Given the description of an element on the screen output the (x, y) to click on. 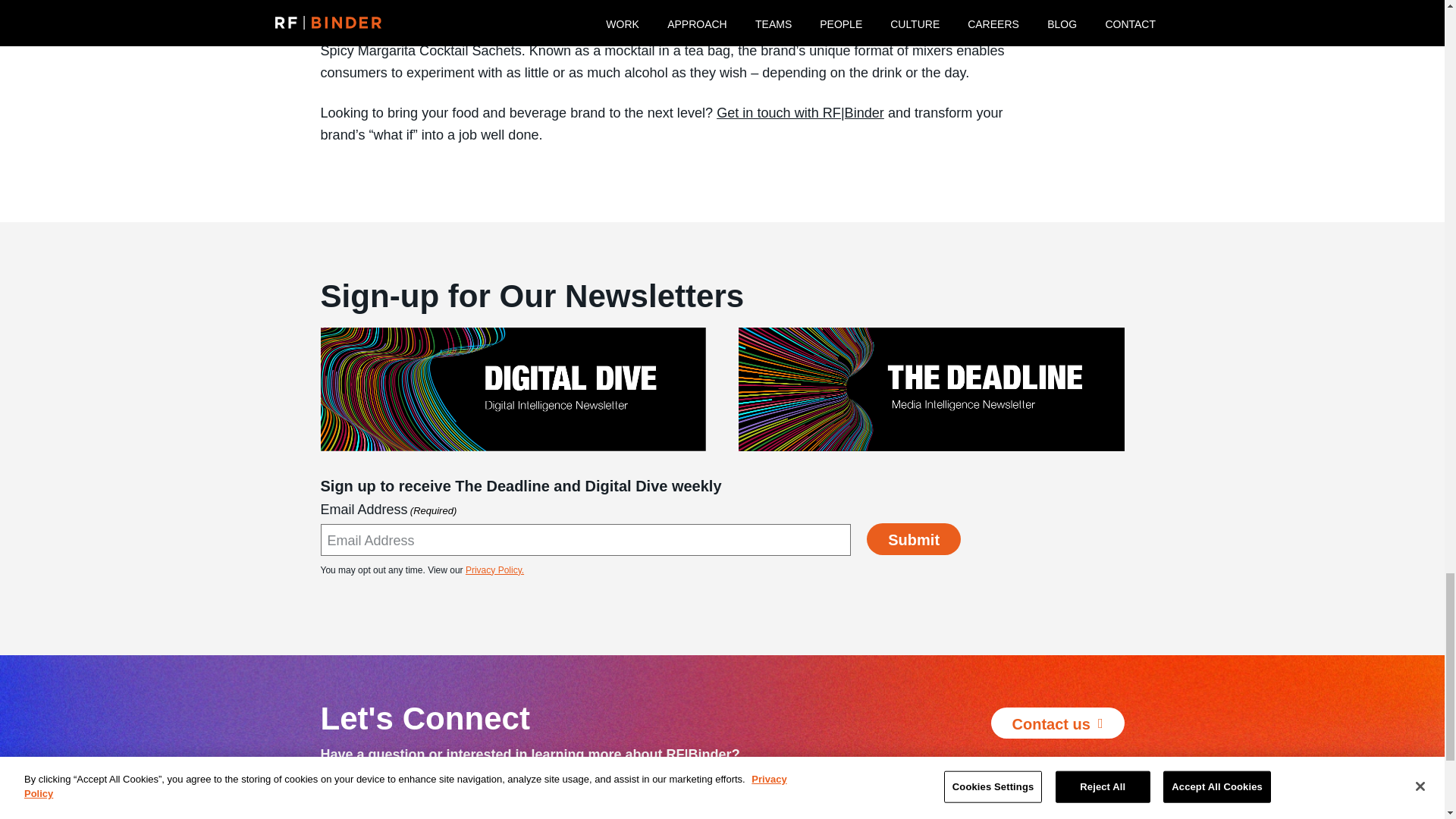
Submit (913, 539)
Submit (913, 539)
Contact us (1057, 723)
Sayso (481, 28)
Privacy Policy. (494, 570)
